Given the description of an element on the screen output the (x, y) to click on. 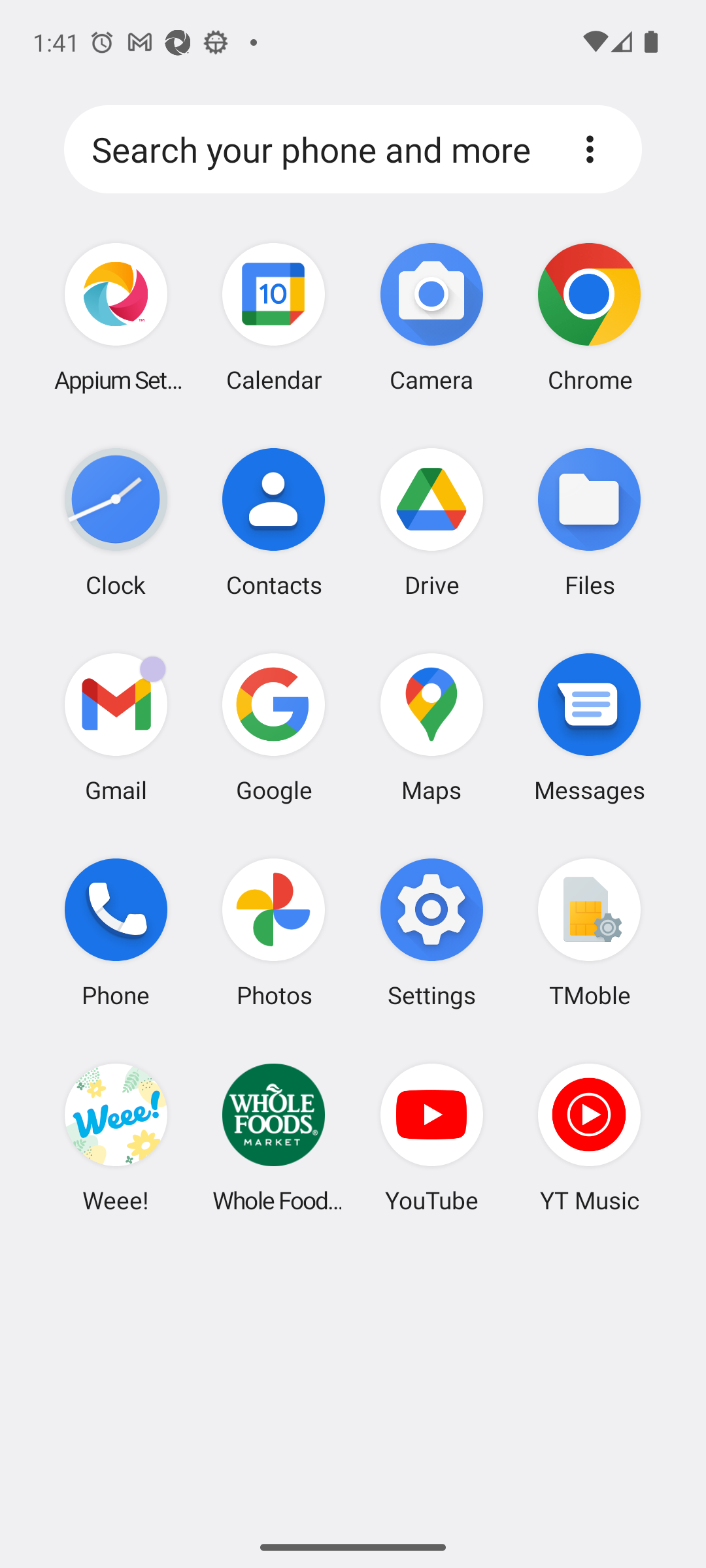
Search your phone and more (318, 149)
Preferences (589, 149)
Appium Settings (115, 317)
Calendar (273, 317)
Camera (431, 317)
Chrome (589, 317)
Clock (115, 522)
Contacts (273, 522)
Drive (431, 522)
Files (589, 522)
Gmail Gmail has 19 notifications (115, 726)
Google (273, 726)
Maps (431, 726)
Messages (589, 726)
Phone (115, 931)
Photos (273, 931)
Settings (431, 931)
TMoble (589, 931)
Weee! (115, 1137)
Whole Foods Market (273, 1137)
YouTube (431, 1137)
YT Music (589, 1137)
